Given the description of an element on the screen output the (x, y) to click on. 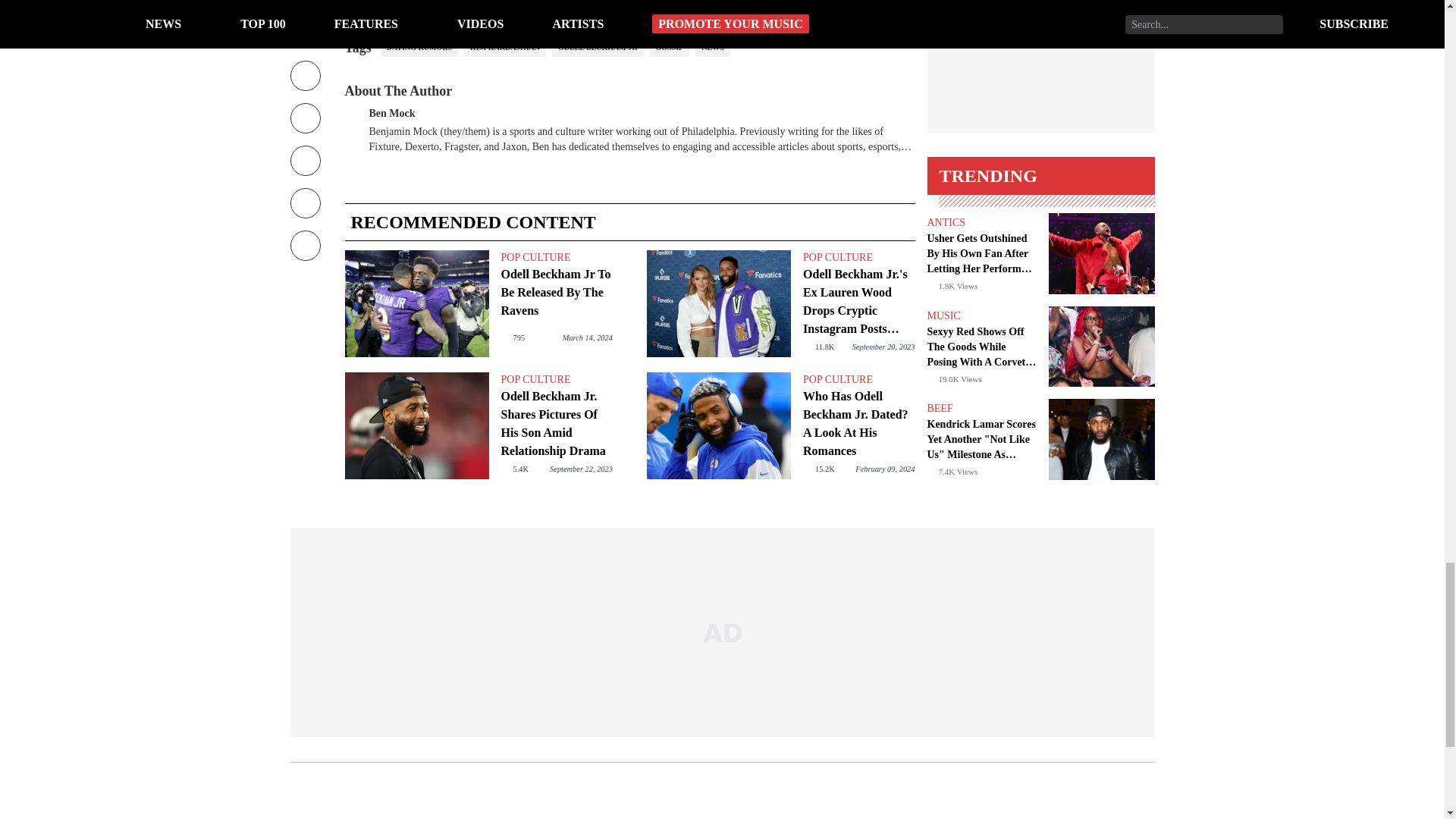
Who Has Odell Beckham Jr. Dated? A Look At His Romances (718, 425)
NEWS (712, 47)
DATING RUMORS (419, 47)
Who Has Odell Beckham Jr. Dated? A Look At His Romances (858, 423)
Odell Beckham Jr To Be Released By The Ravens (415, 303)
Odell Beckham Jr To Be Released By The Ravens (555, 292)
POP CULTURE (858, 257)
February 09, 2024 (885, 469)
